Given the description of an element on the screen output the (x, y) to click on. 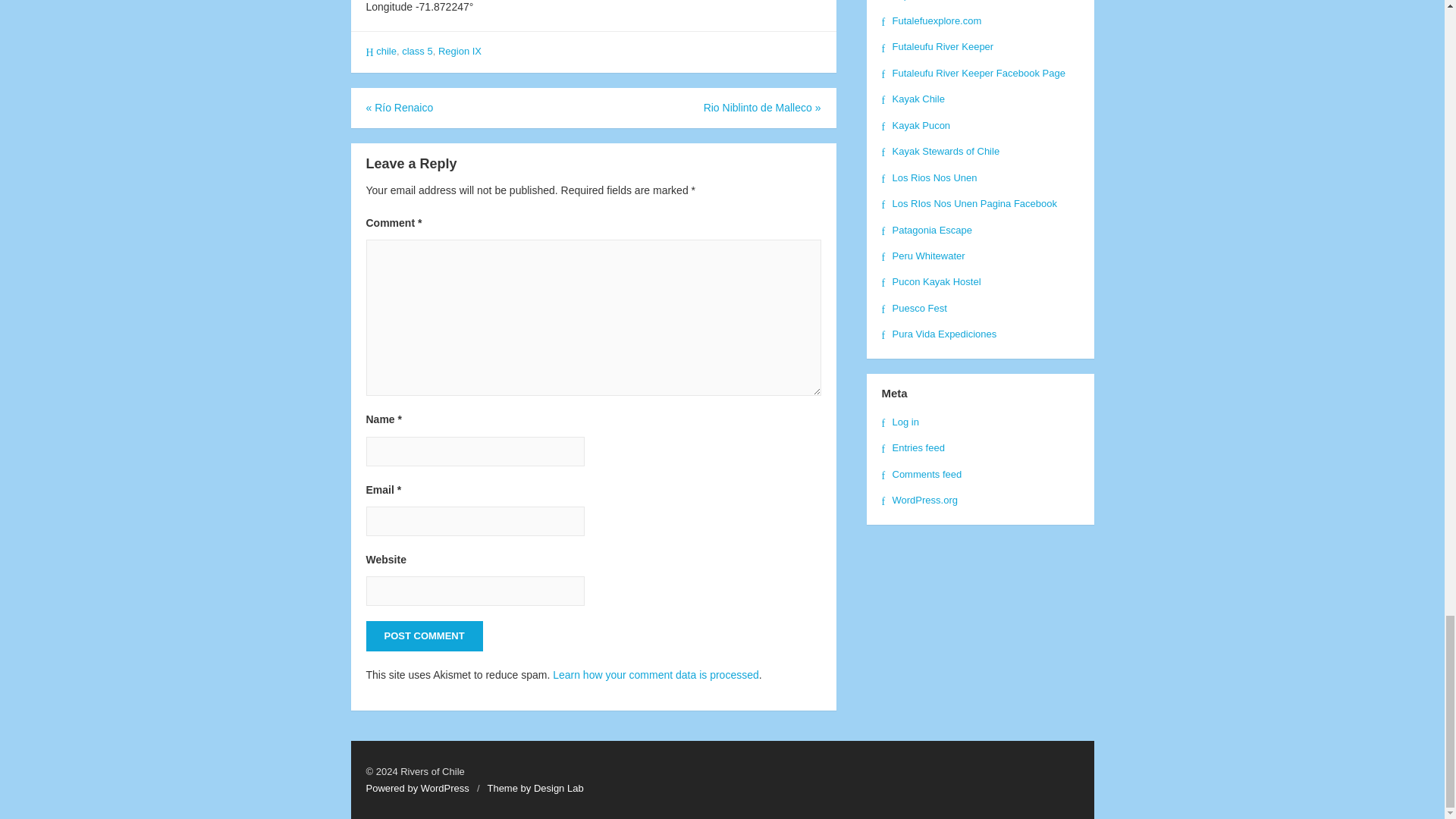
Post Comment (423, 635)
chile (385, 50)
class 5 (416, 50)
guide to whitewater in Peru (921, 255)
Post Comment (423, 635)
whitewater kayak tours chile (911, 98)
Region IX (459, 50)
Learn how your comment data is processed (655, 674)
kayak pucon (915, 125)
